Given the description of an element on the screen output the (x, y) to click on. 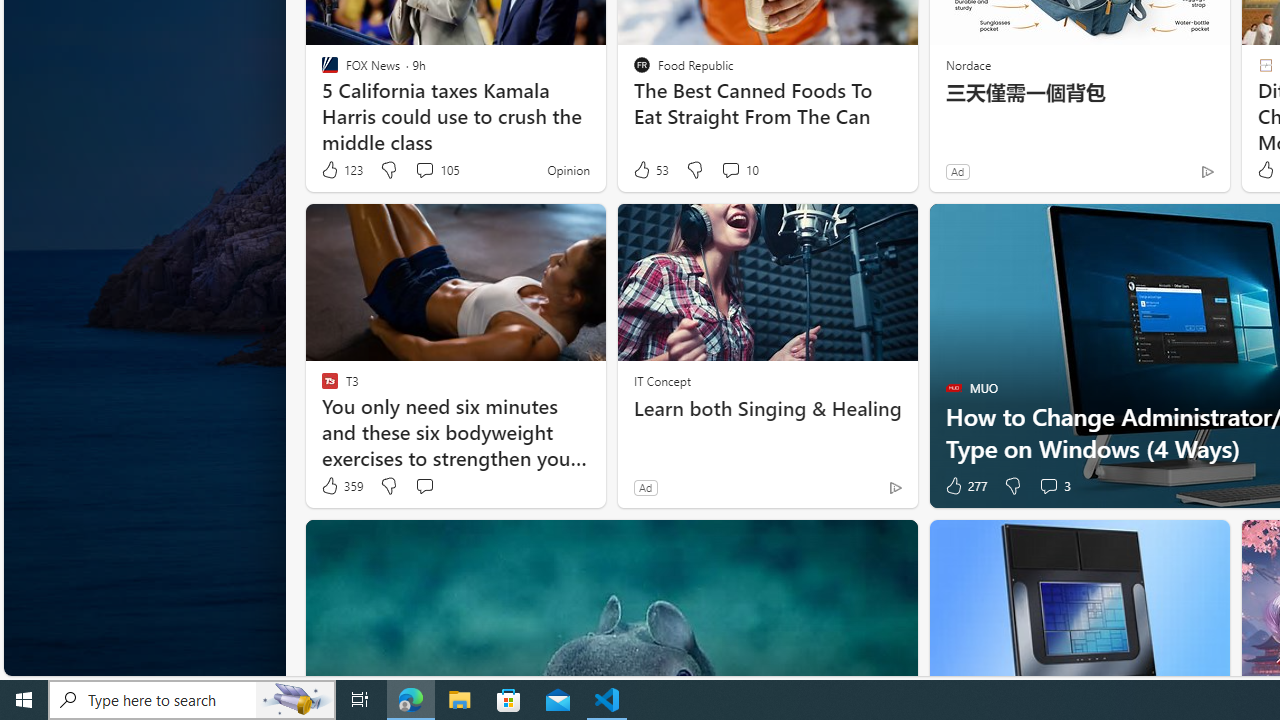
277 Like (964, 485)
IT Concept (662, 380)
359 Like (341, 485)
Learn both Singing & Healing (767, 408)
View comments 10 Comment (738, 170)
View comments 10 Comment (730, 169)
View comments 105 Comment (436, 170)
